Given the description of an element on the screen output the (x, y) to click on. 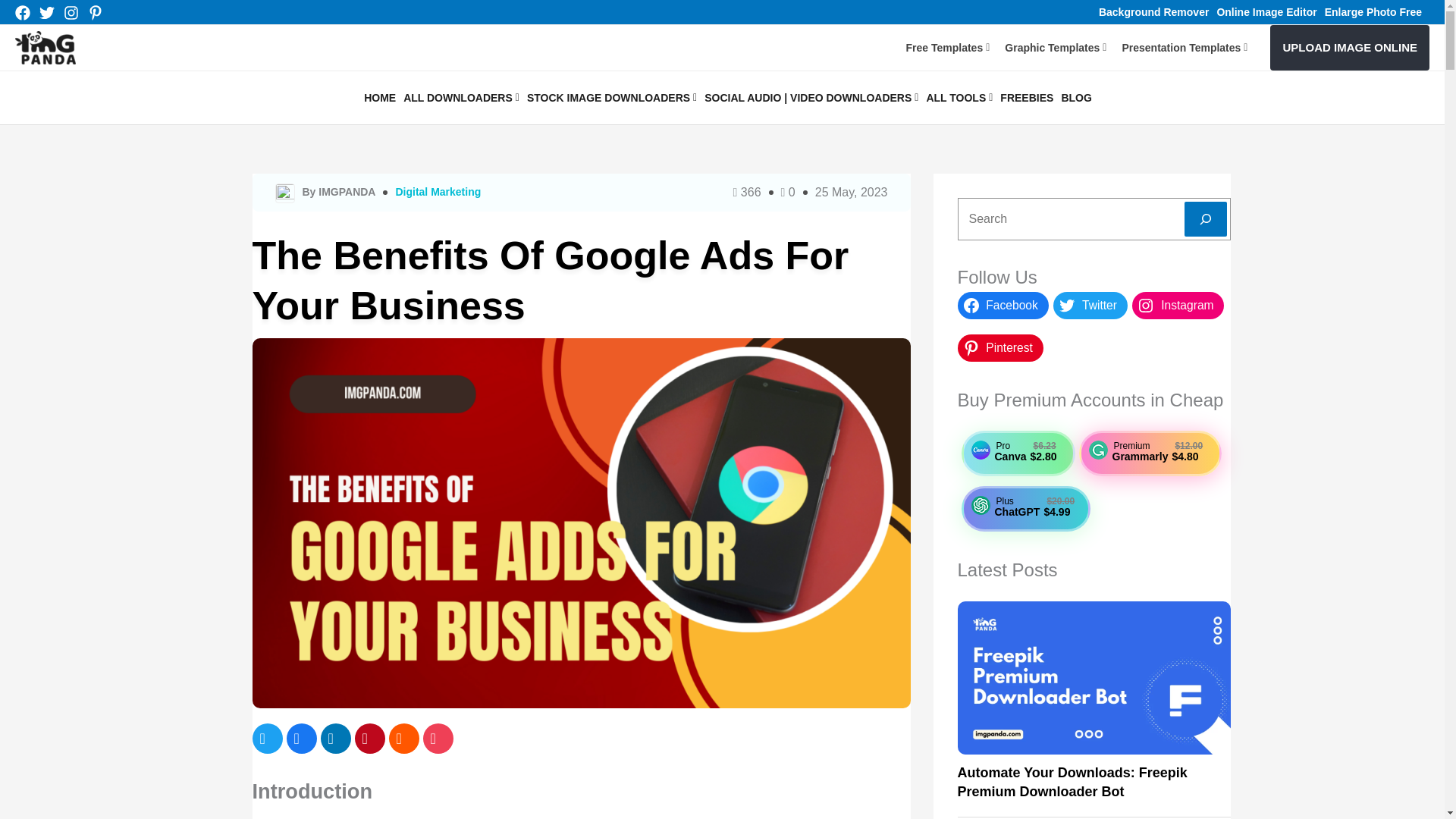
Enlarge Photo Free (1373, 11)
Free Templates (947, 47)
Graphic Templates (1055, 47)
UPLOAD IMAGE ONLINE (1349, 47)
Online Image Editor (1265, 11)
Presentation Templates (1184, 47)
Background Remover (1153, 11)
